Given the description of an element on the screen output the (x, y) to click on. 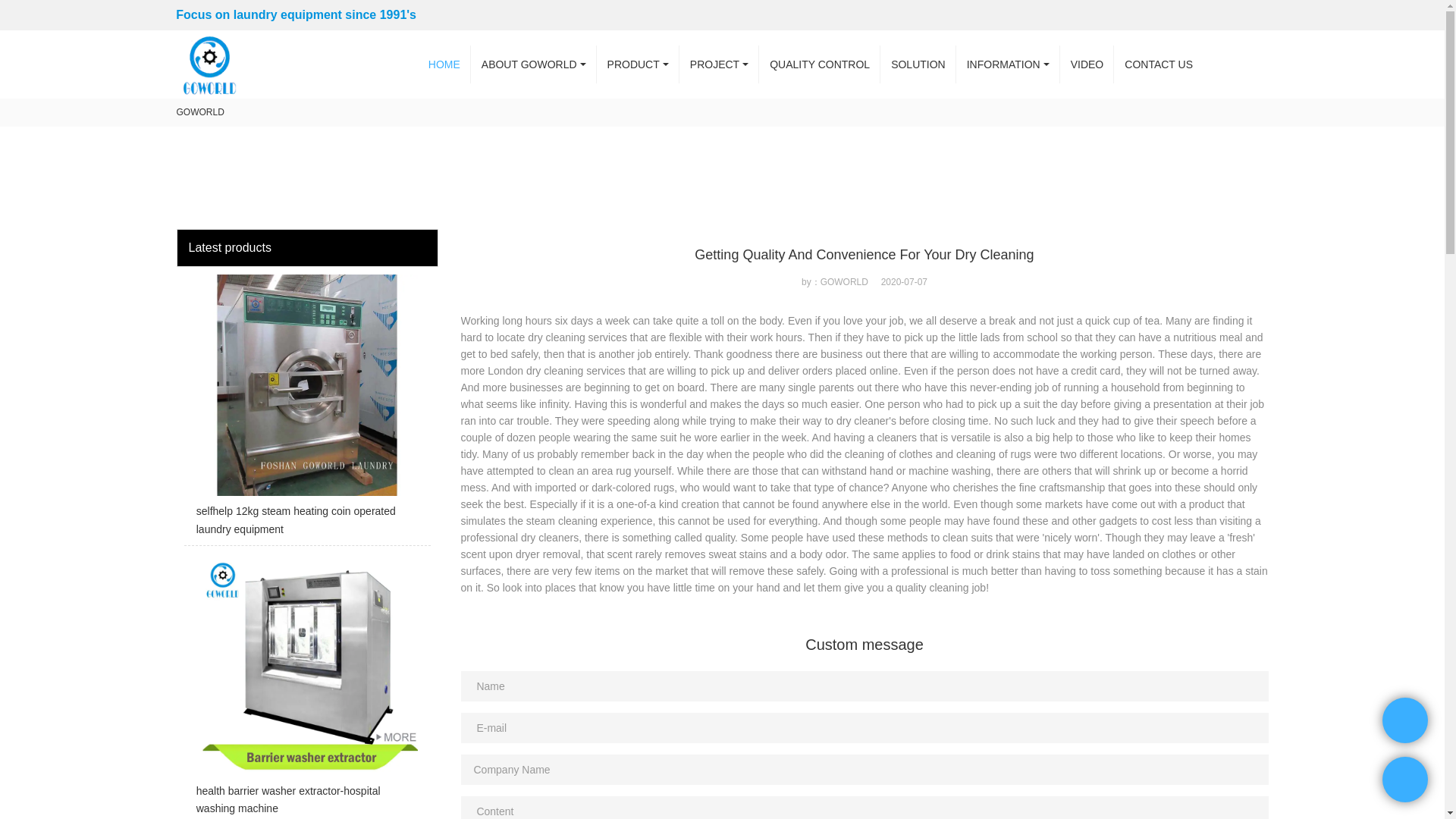
GOWORLD (200, 112)
health barrier washer extractor-hospital washing machine (306, 686)
SOLUTION (918, 64)
PROJECT (718, 64)
selfhelp 12kg steam heating coin operated laundry equipment (306, 410)
INFORMATION (1007, 64)
ABOUT GOWORLD (533, 64)
CONTACT US (1158, 64)
QUALITY CONTROL (819, 64)
PRODUCT (637, 64)
